Given the description of an element on the screen output the (x, y) to click on. 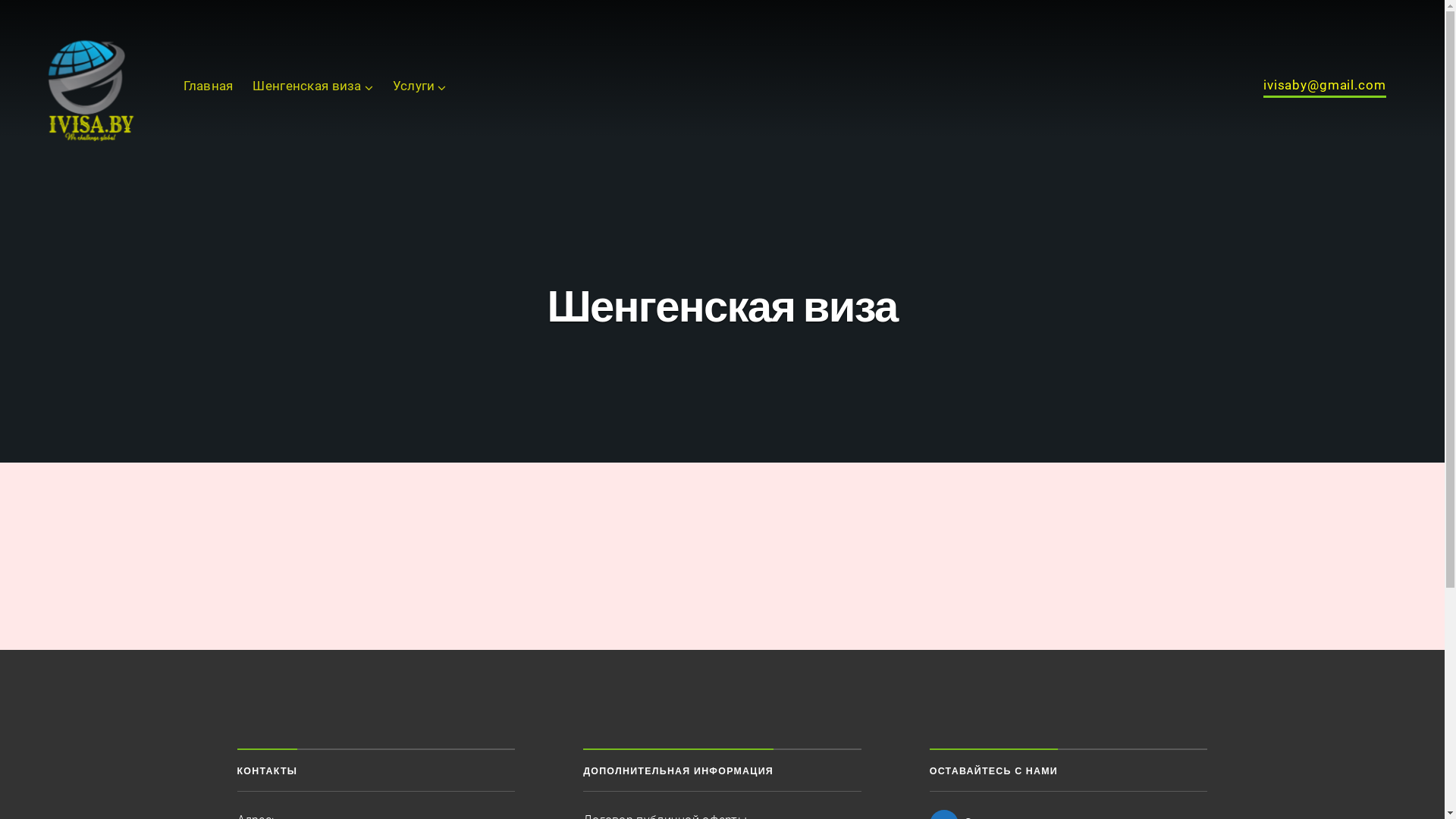
ivisaby@gmail.com Element type: text (1324, 87)
